Given the description of an element on the screen output the (x, y) to click on. 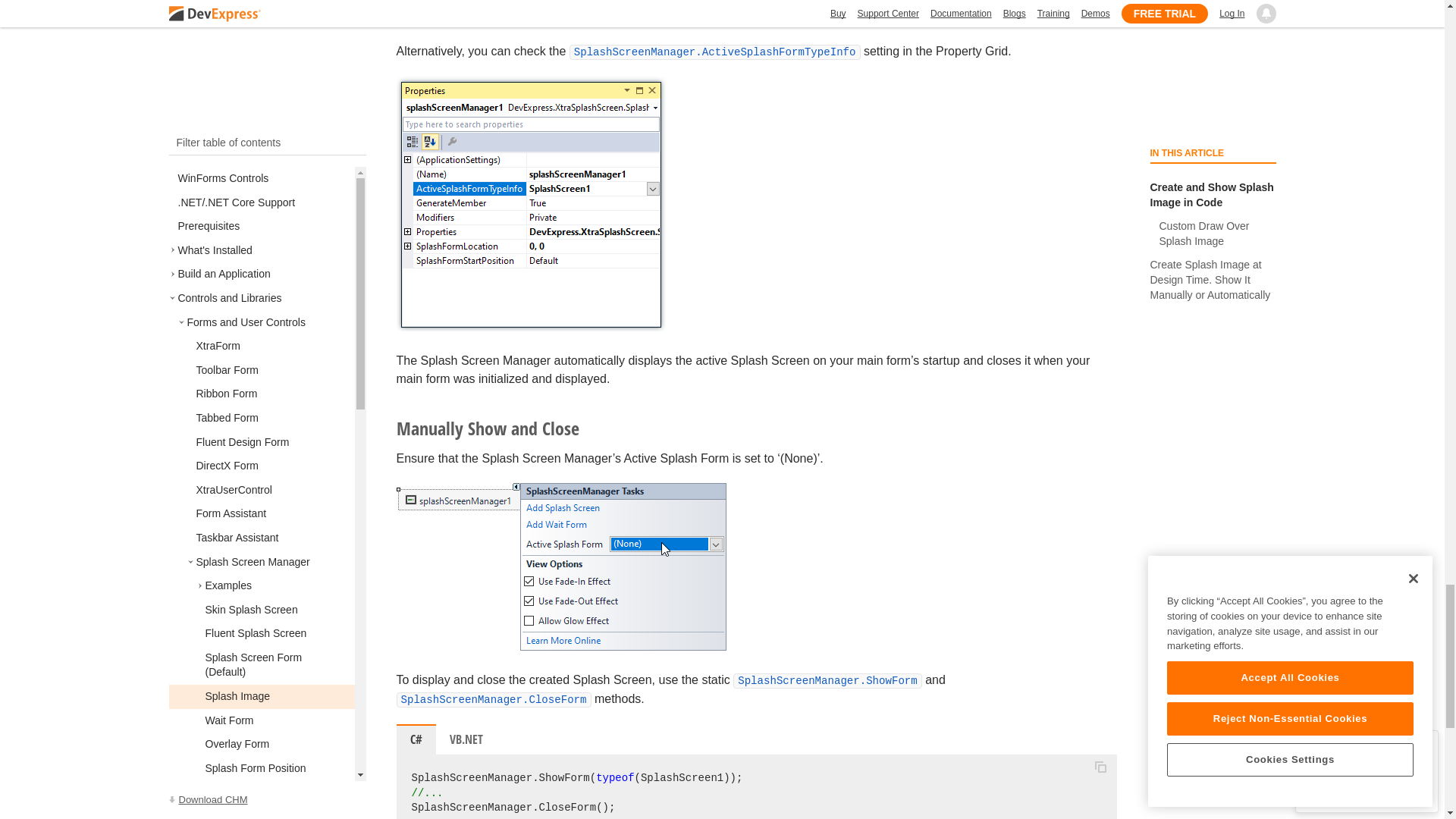
Copy (1100, 767)
